Given the description of an element on the screen output the (x, y) to click on. 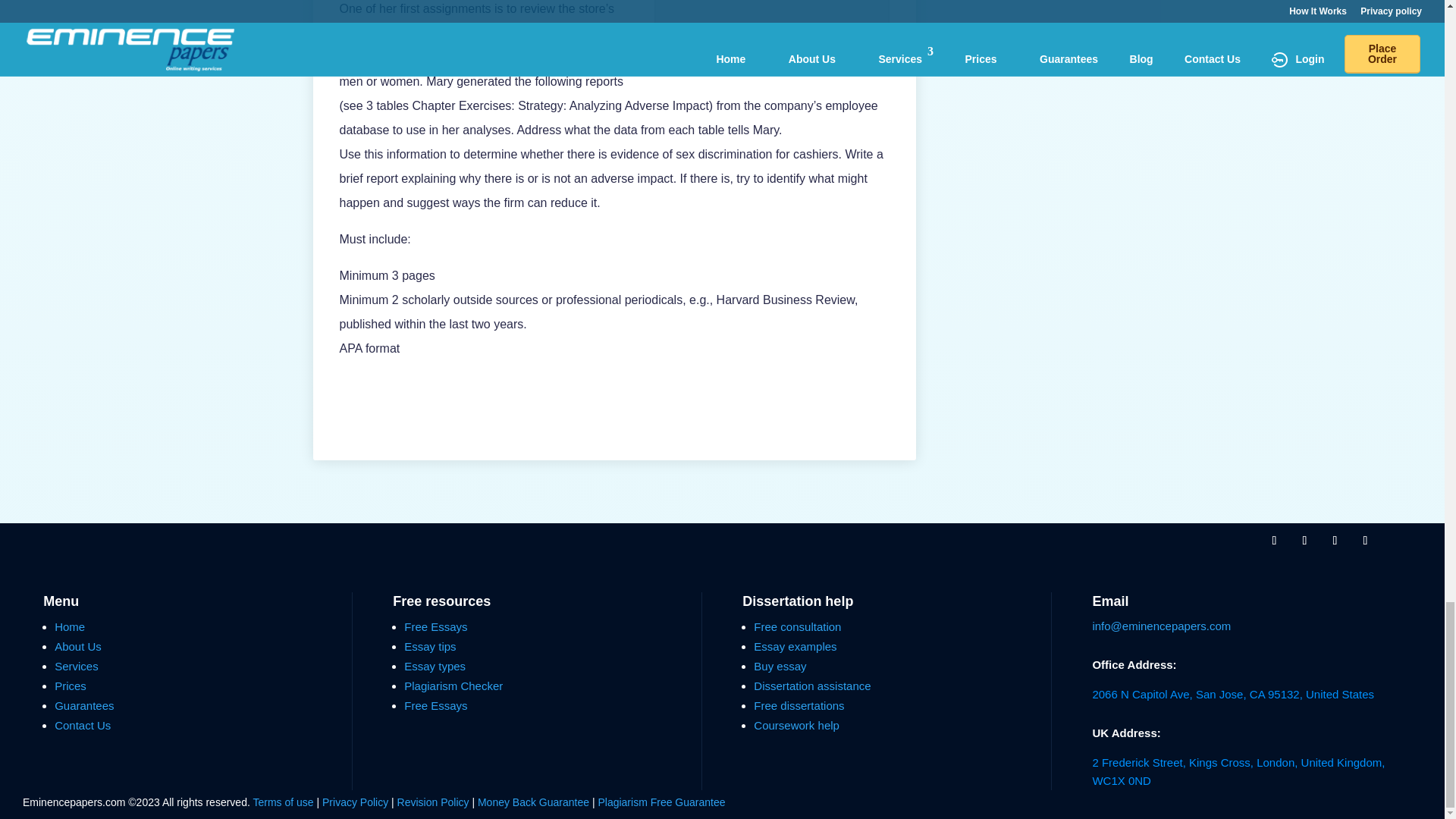
Follow on Facebook (1273, 540)
Follow on google-plus (1334, 540)
Follow on X (1304, 540)
Follow on LinkedIn (1364, 540)
